Given the description of an element on the screen output the (x, y) to click on. 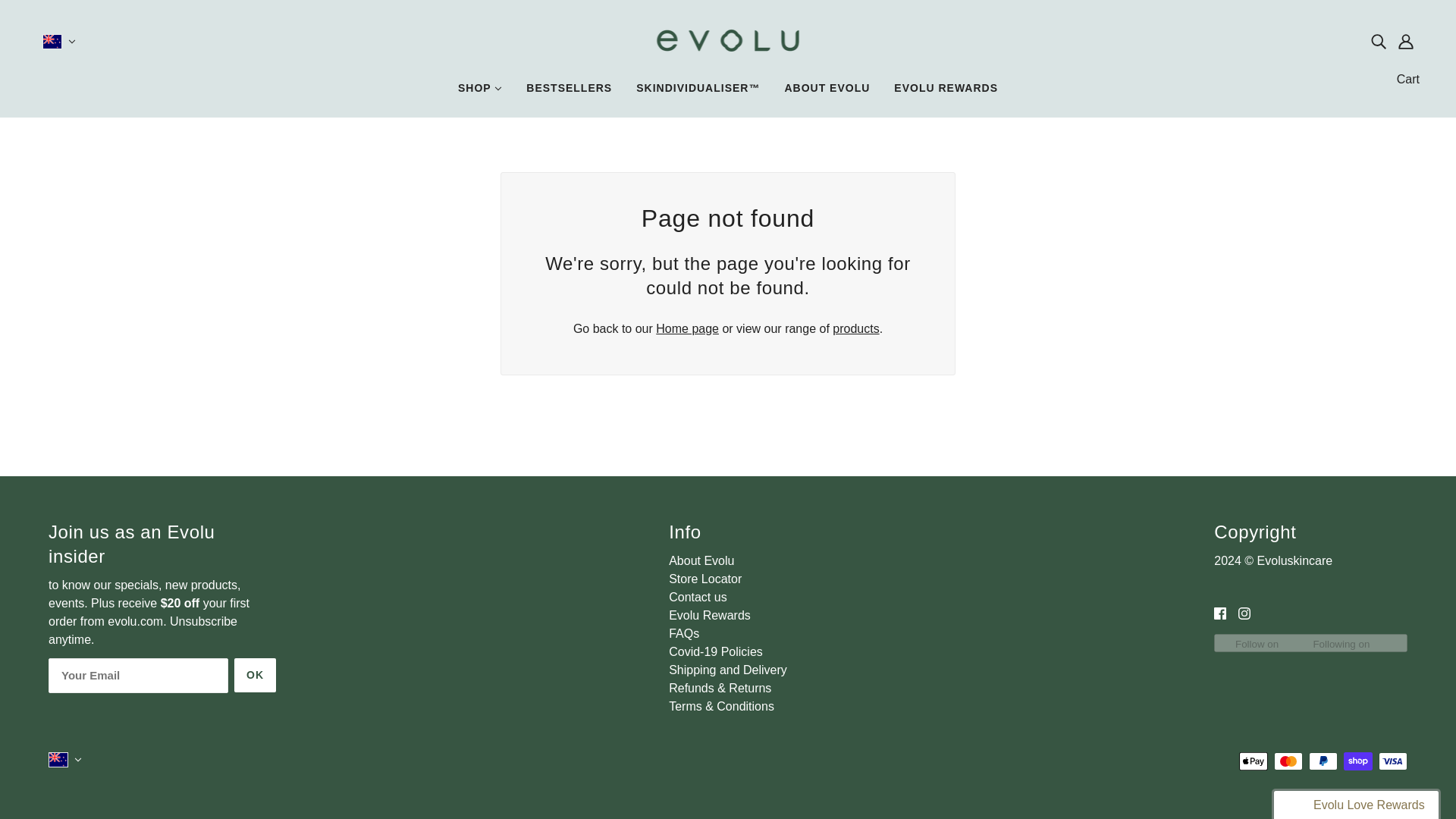
FAQs (683, 633)
FAQs (683, 633)
Evolu Rewards (709, 615)
Contact us (697, 596)
Store Locator (704, 578)
Store Locator (704, 578)
Cart (1407, 79)
Shipping and Delivery (727, 669)
Evolu Rewards (709, 615)
Evolu Skincare (728, 52)
products (855, 328)
Home page (687, 328)
OK (255, 675)
About Evolu (700, 560)
Covid-19 Policies (715, 651)
